Given the description of an element on the screen output the (x, y) to click on. 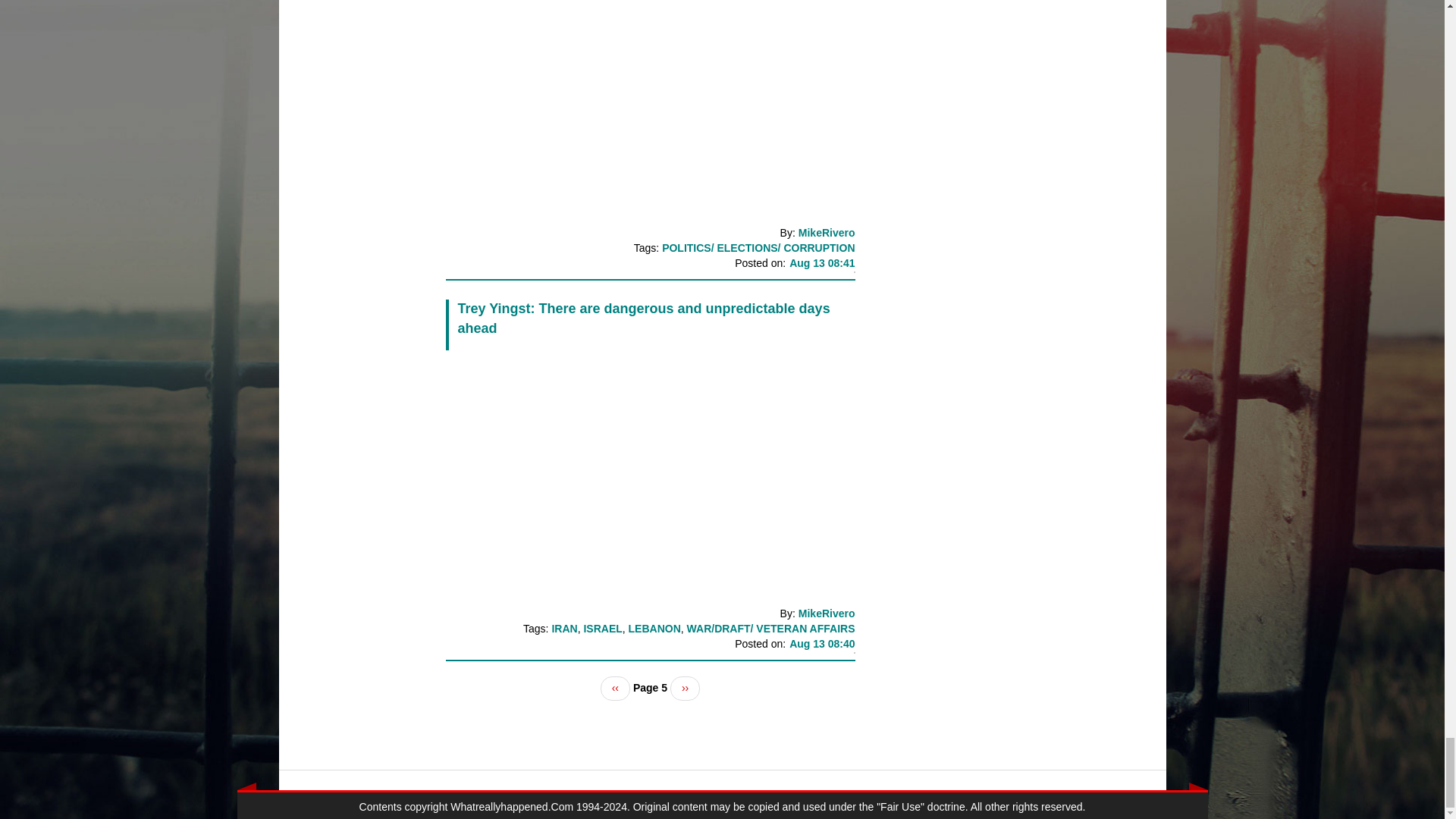
Go to previous page (614, 688)
Go to next page (684, 688)
YouTube video player (650, 107)
YouTube video player (650, 475)
